Given the description of an element on the screen output the (x, y) to click on. 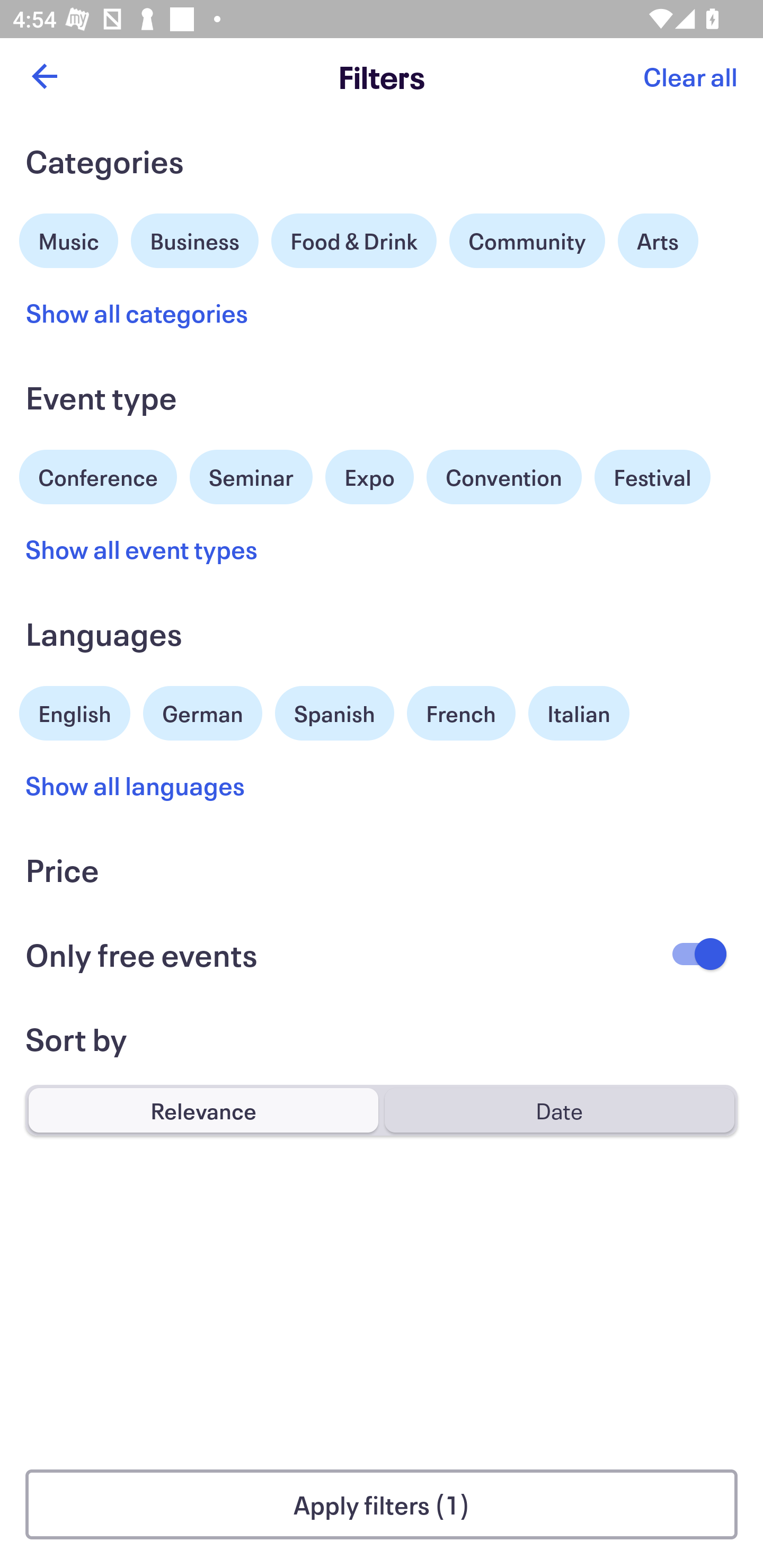
Back button (44, 75)
Clear all (690, 75)
Music (68, 238)
Business (194, 238)
Food & Drink (353, 240)
Community (527, 240)
Arts (658, 240)
Show all categories (136, 312)
Conference (98, 475)
Seminar (250, 477)
Expo (369, 477)
Convention (503, 477)
Festival (652, 477)
Show all event types (141, 548)
English (74, 710)
German (202, 710)
Spanish (334, 713)
French (460, 713)
Italian (578, 713)
Show all languages (135, 784)
Relevance (203, 1109)
Date (559, 1109)
Apply filters (1) (381, 1504)
